Given the description of an element on the screen output the (x, y) to click on. 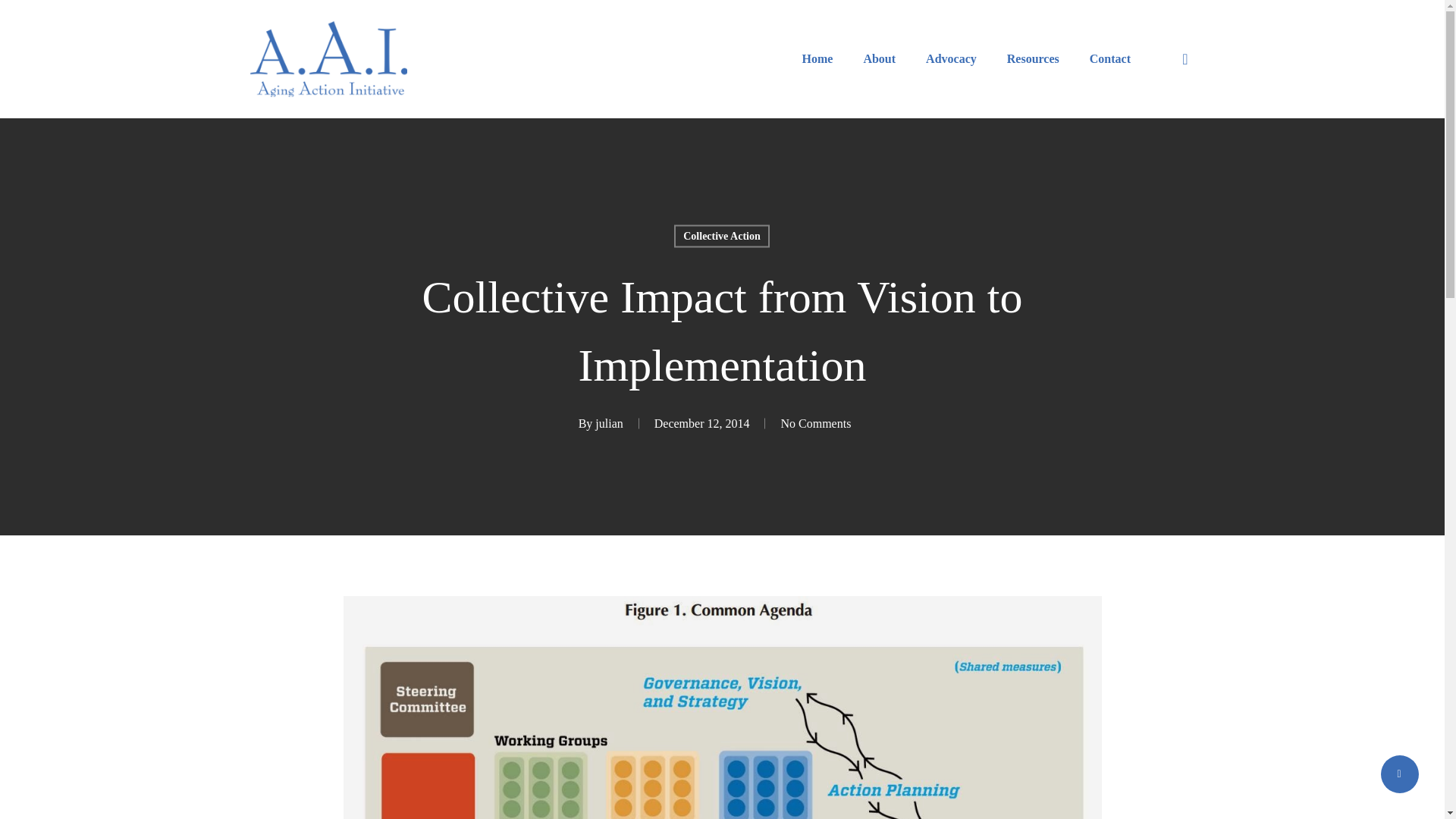
Contact (1110, 58)
julian (609, 422)
Home (817, 58)
No Comments (815, 422)
Collective Action (721, 235)
Advocacy (951, 58)
Posts by julian (609, 422)
search (1184, 59)
About (879, 58)
